Given the description of an element on the screen output the (x, y) to click on. 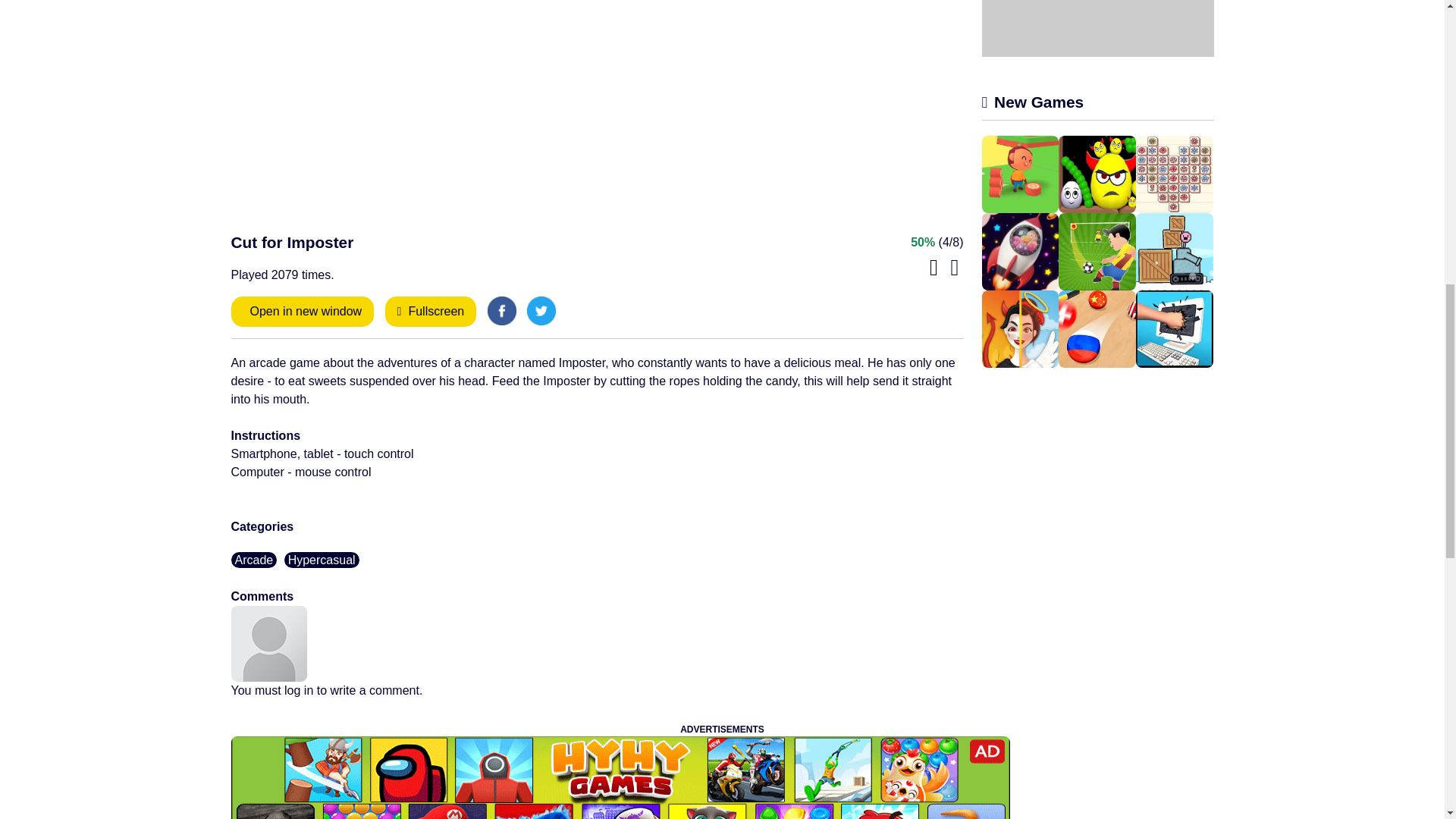
Advertisement (1096, 28)
